Given the description of an element on the screen output the (x, y) to click on. 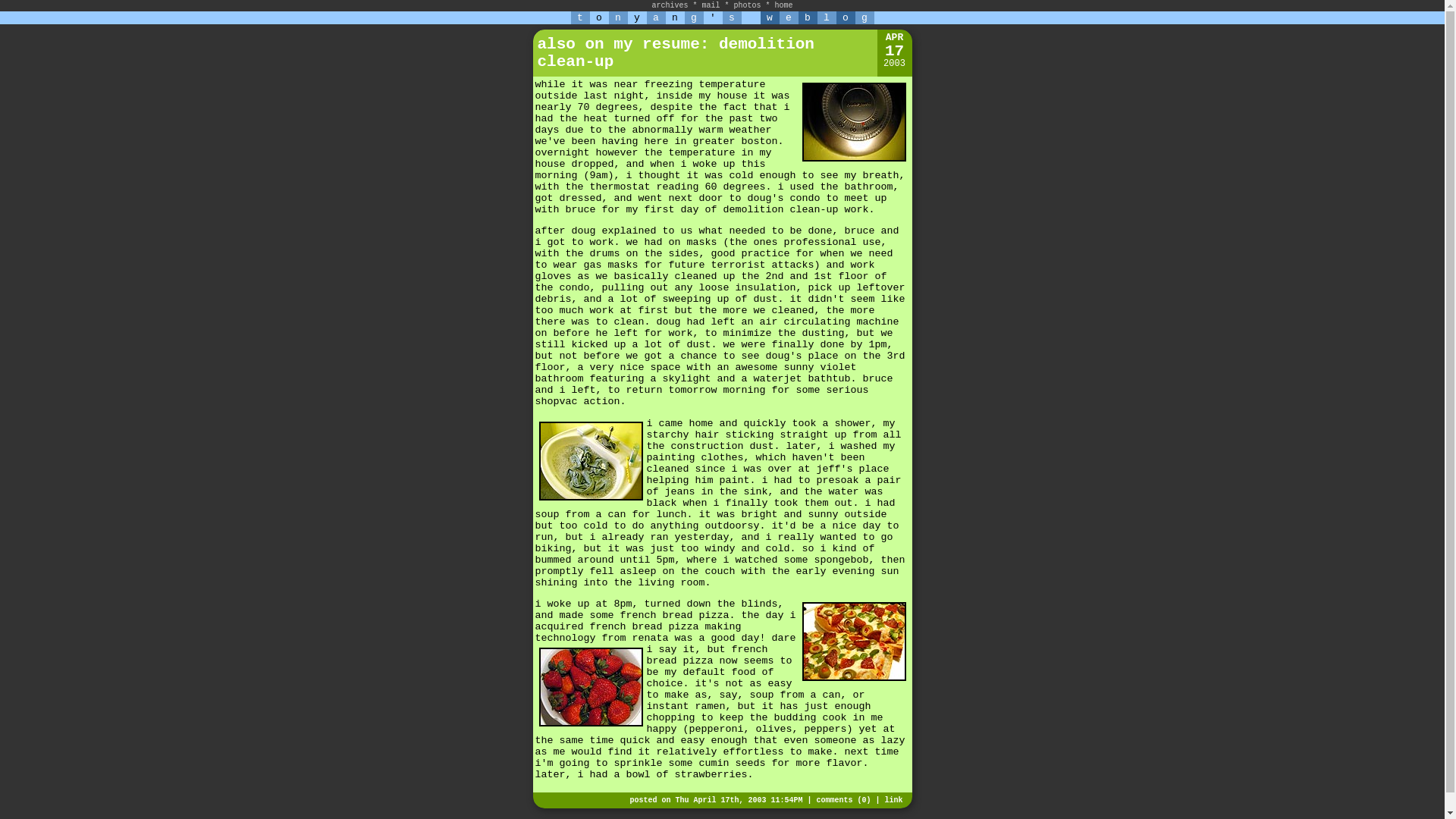
photos (747, 5)
link (892, 800)
also on my resume: demolition clean-up (675, 53)
home (783, 5)
mail (710, 5)
